Given the description of an element on the screen output the (x, y) to click on. 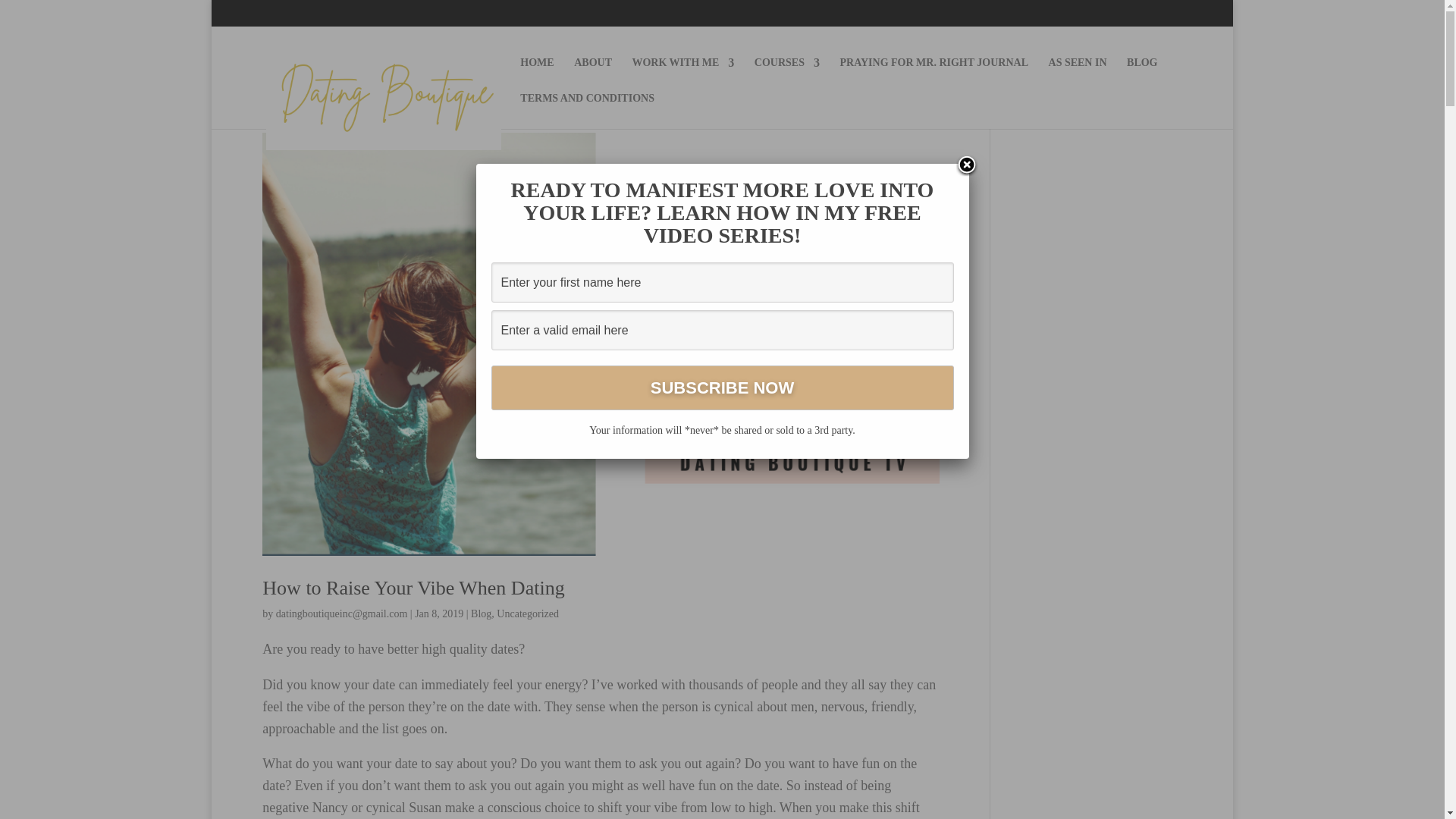
SUBSCRIBE NOW (722, 387)
COURSES (786, 75)
ABOUT (592, 75)
AS SEEN IN (1077, 75)
PRAYING FOR MR. RIGHT JOURNAL (934, 75)
WORK WITH ME (682, 75)
TERMS AND CONDITIONS (586, 110)
Close (966, 165)
HOME (536, 75)
